Given the description of an element on the screen output the (x, y) to click on. 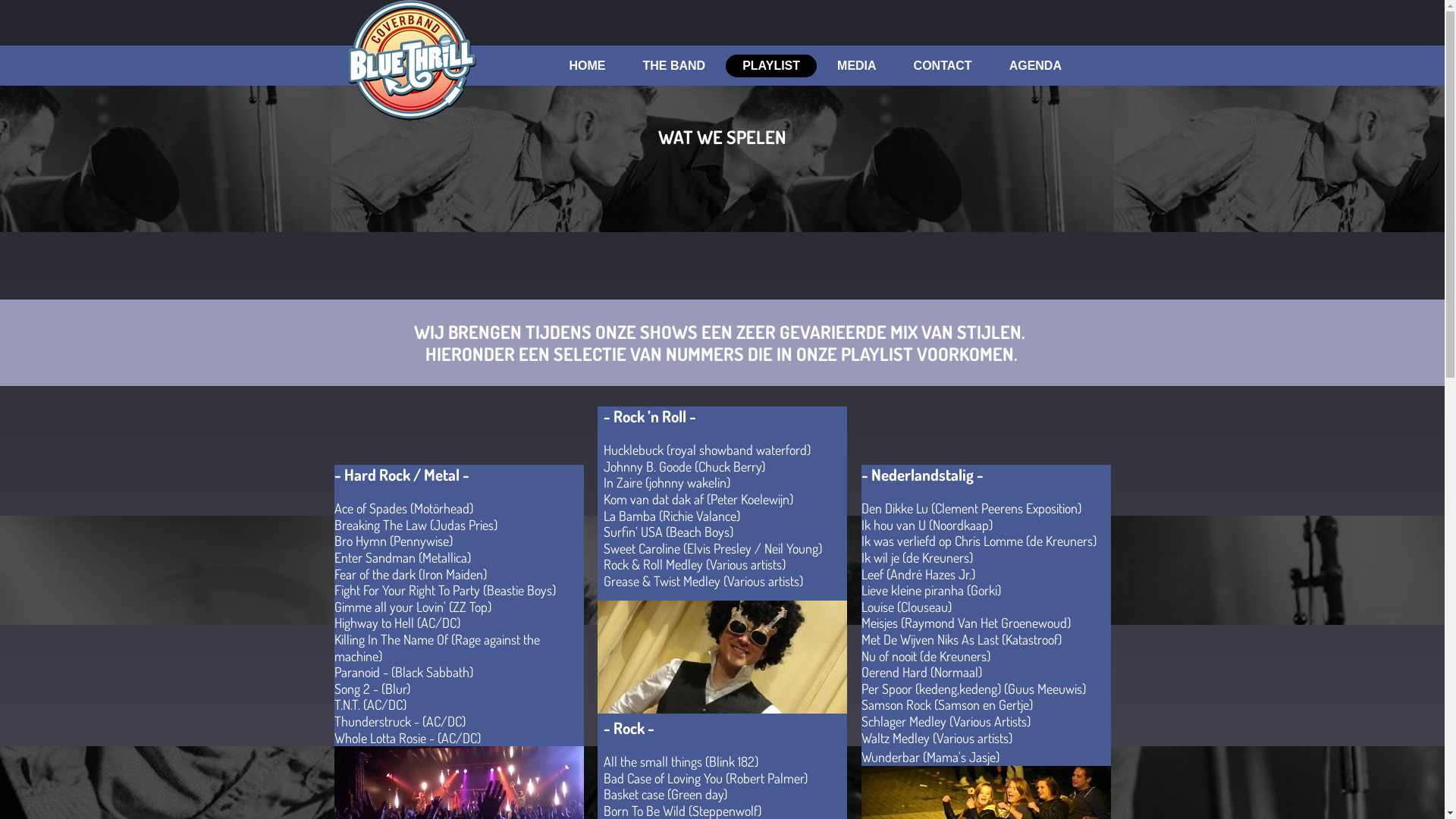
tom discobril afrokapsel voor optreden coverand Element type: hover (722, 656)
PLAYLIST Element type: text (770, 65)
AGENDA Element type: text (1035, 65)
HOME Element type: text (586, 65)
Blue Thrill Coverband Logo Element type: hover (411, 60)
CONTACT Element type: text (942, 65)
MEDIA Element type: text (856, 65)
THE BAND Element type: text (674, 65)
